Given the description of an element on the screen output the (x, y) to click on. 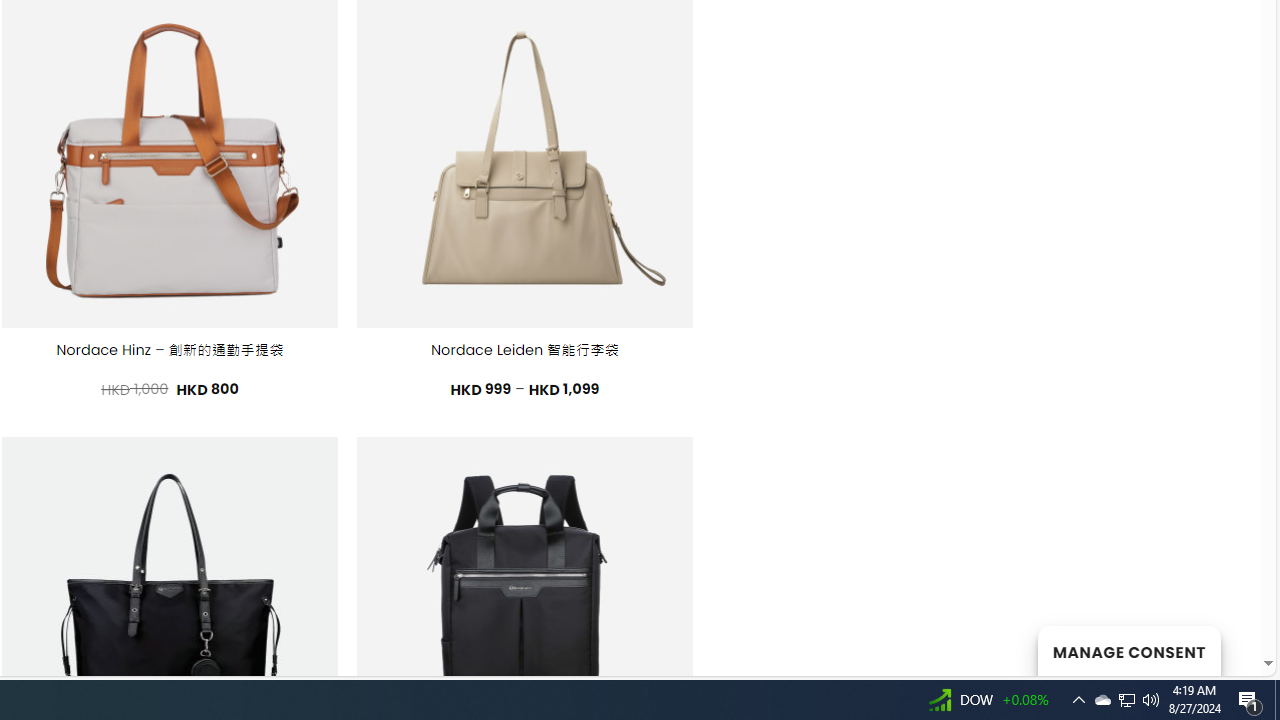
MANAGE CONSENT (1128, 650)
